Given the description of an element on the screen output the (x, y) to click on. 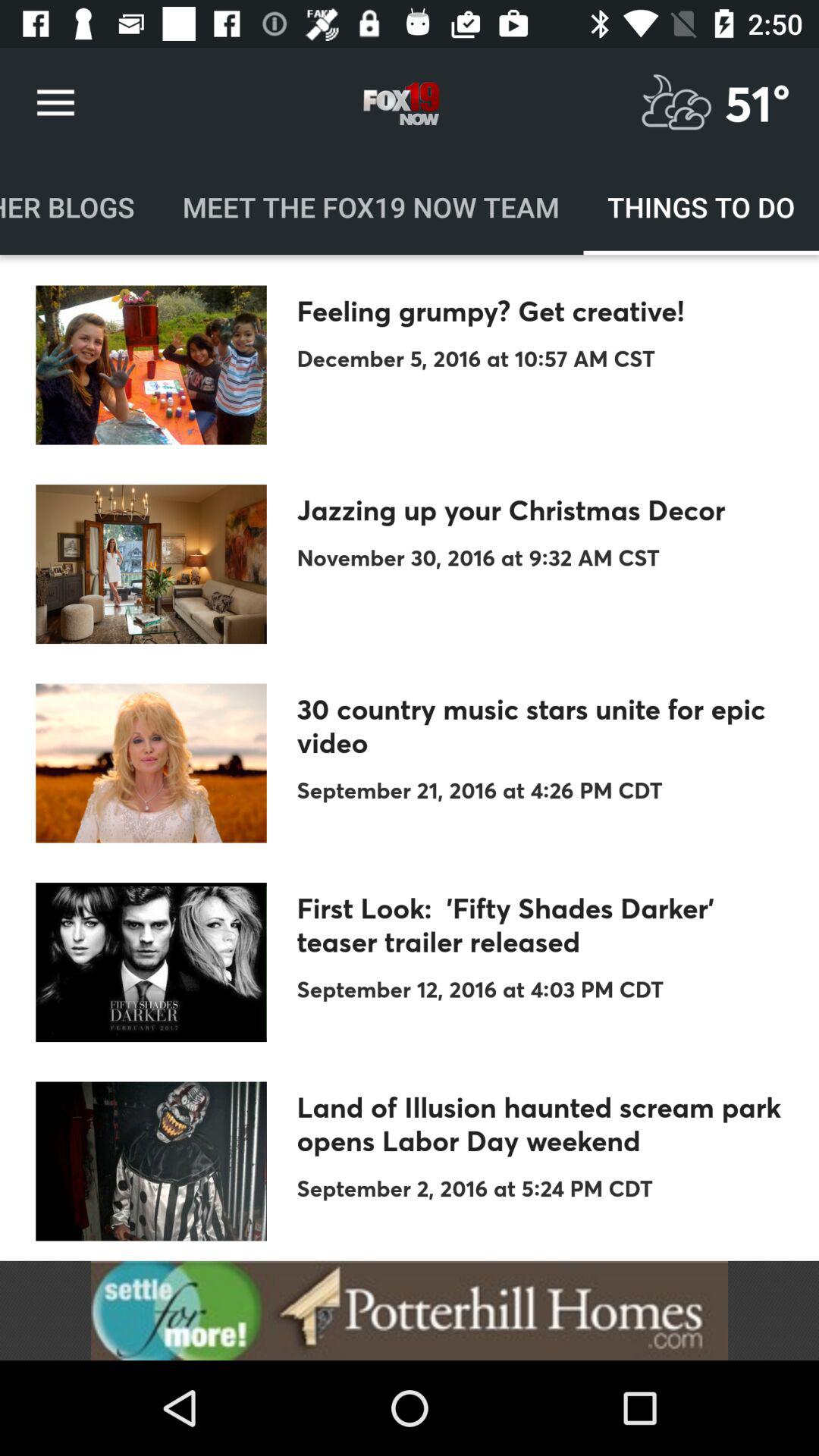
show the advertisement (409, 1310)
